Given the description of an element on the screen output the (x, y) to click on. 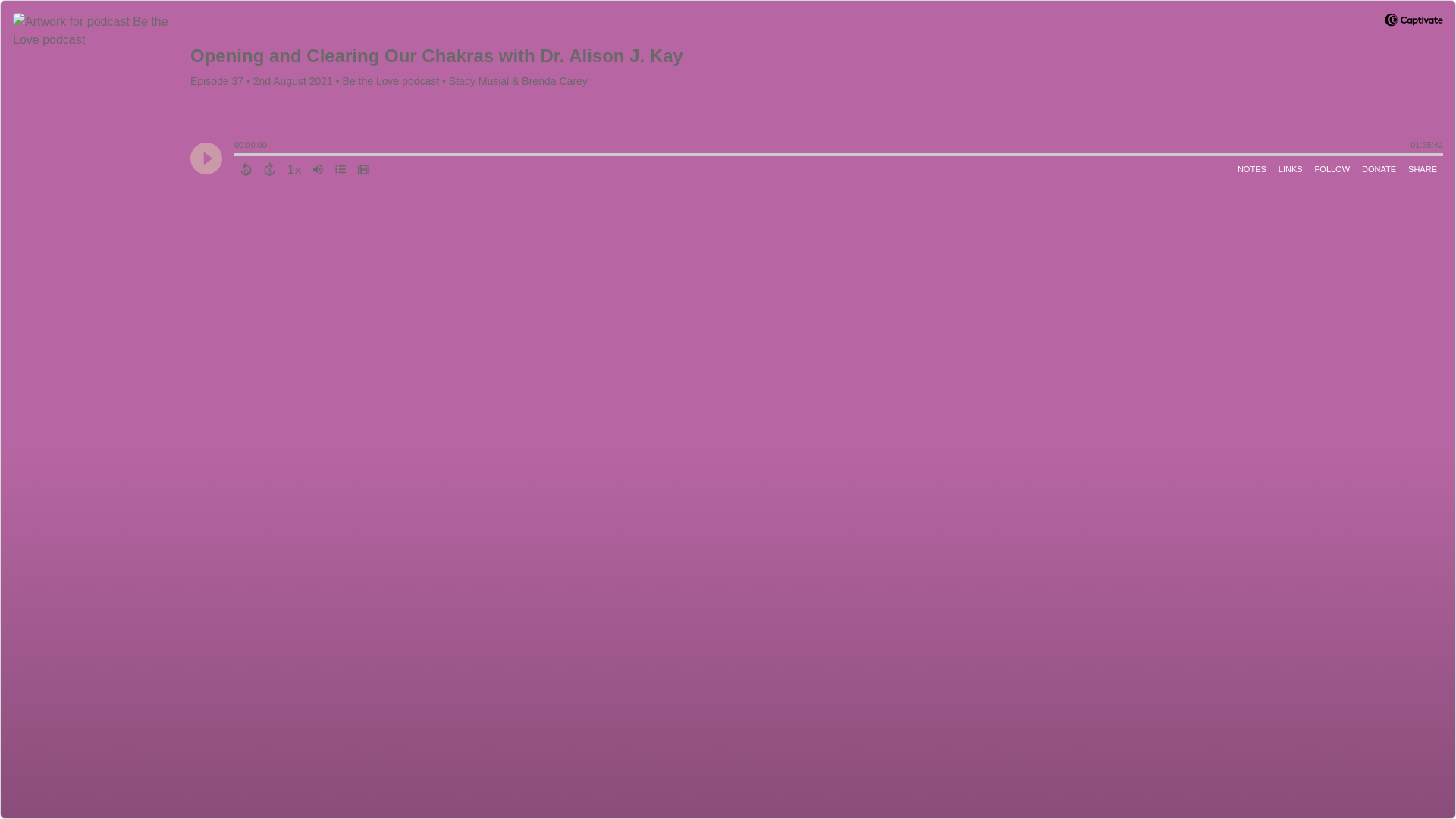
LINKS (1290, 168)
NOTES (1251, 168)
FOLLOW (1331, 168)
DONATE (1378, 168)
SHARE (1422, 168)
1 (294, 168)
